Given the description of an element on the screen output the (x, y) to click on. 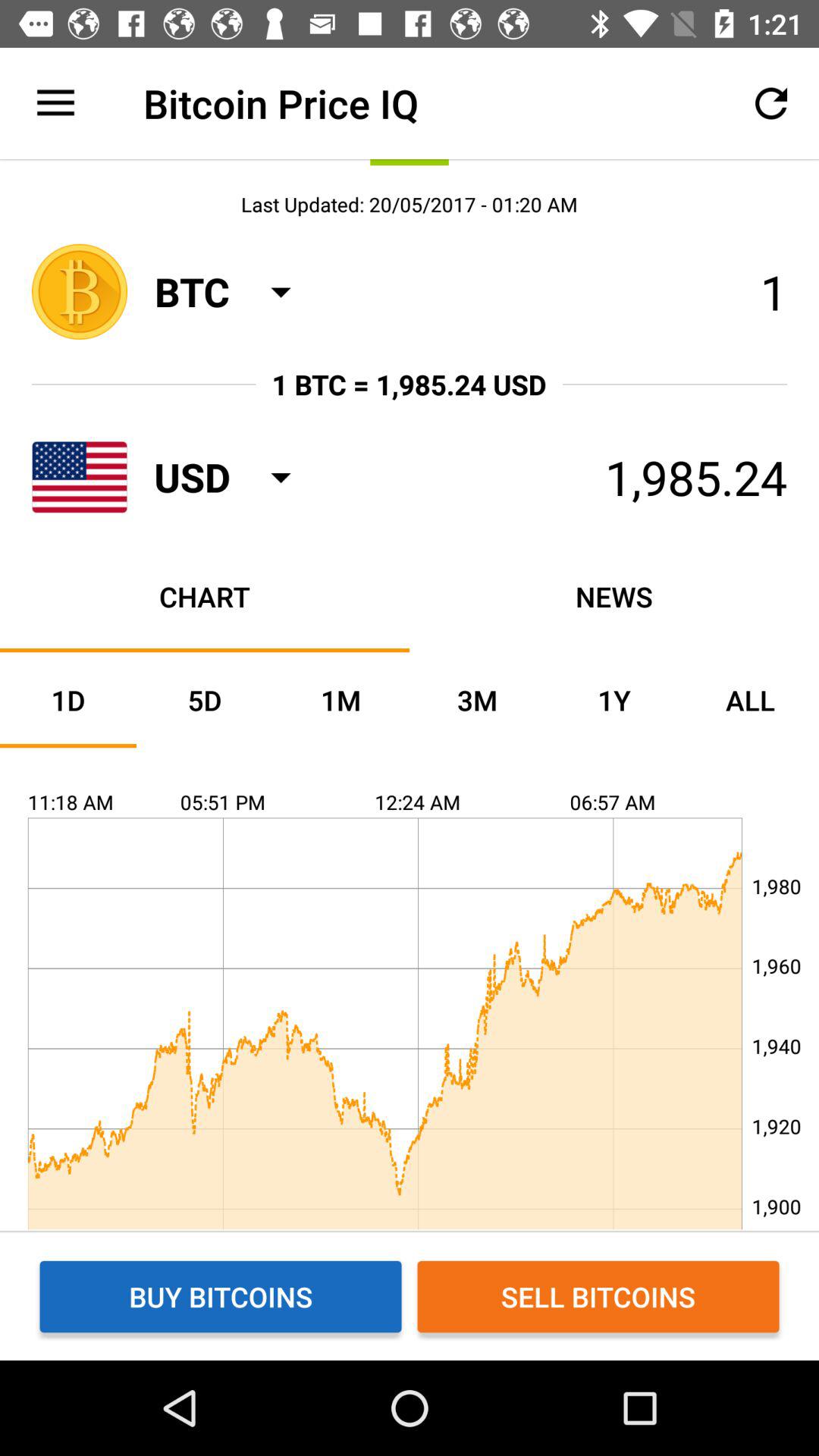
choose the sell bitcoins (598, 1296)
